Given the description of an element on the screen output the (x, y) to click on. 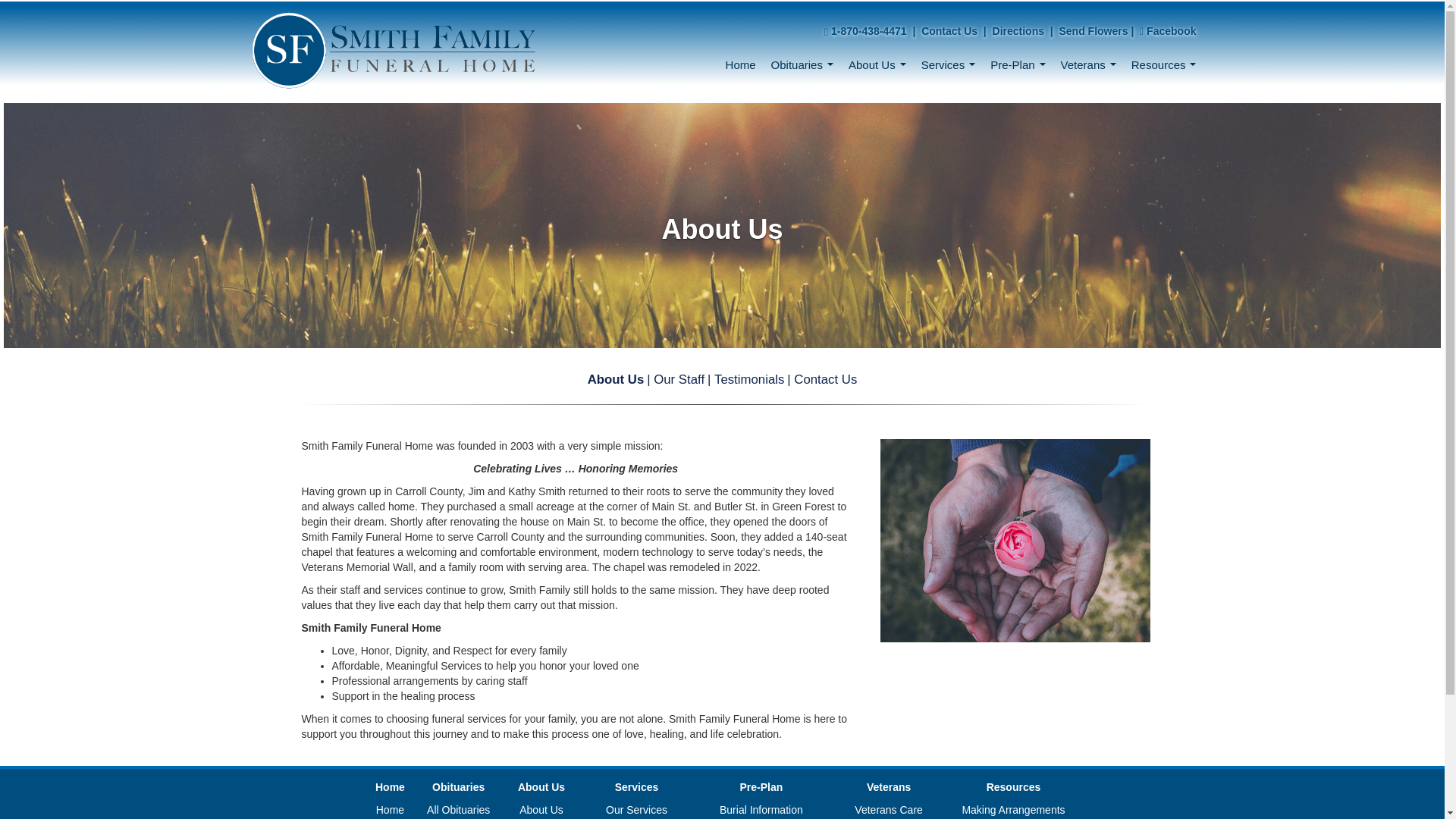
Pre-Plan... (1017, 65)
Facebook (1167, 30)
Contact Us (948, 30)
About Us... (877, 65)
Directions (1017, 30)
Obituaries... (801, 65)
Services... (949, 65)
Send Flowers (1092, 30)
Home (739, 65)
Resources... (1164, 65)
Veterans... (1088, 65)
1-870-438-4471 (869, 30)
